Given the description of an element on the screen output the (x, y) to click on. 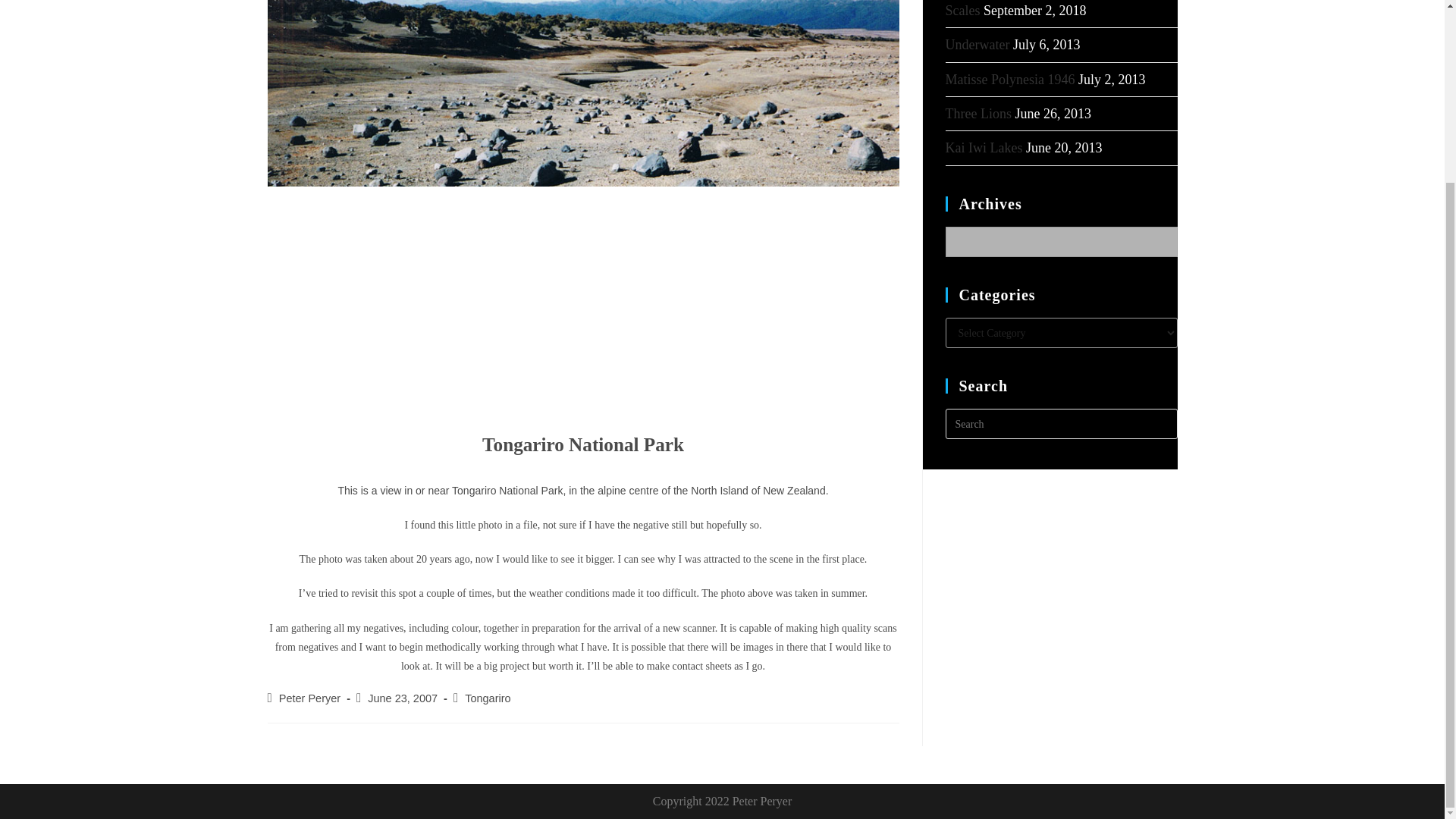
Underwater (976, 44)
Matisse Polynesia 1946 (1009, 79)
Three Lions (977, 113)
Tongariro (487, 698)
Scales (961, 10)
Peter Peryer (309, 698)
Posts by Peter Peryer (309, 698)
